Given the description of an element on the screen output the (x, y) to click on. 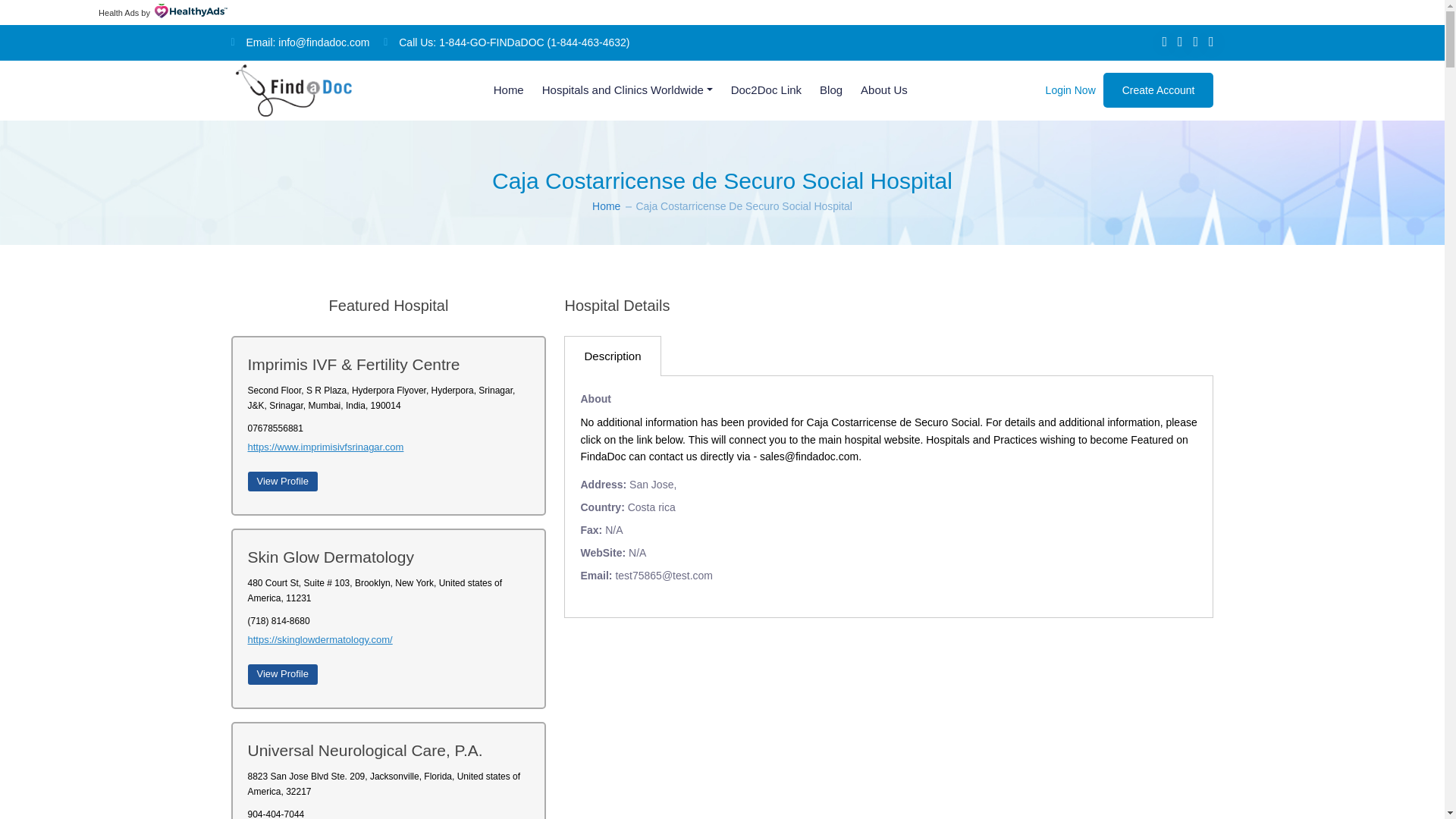
Click here to view profile (282, 673)
Click here to view profile (282, 481)
Health Ads (118, 12)
Hospitals and Clinics Worldwide (627, 89)
Health Ads (118, 12)
